Given the description of an element on the screen output the (x, y) to click on. 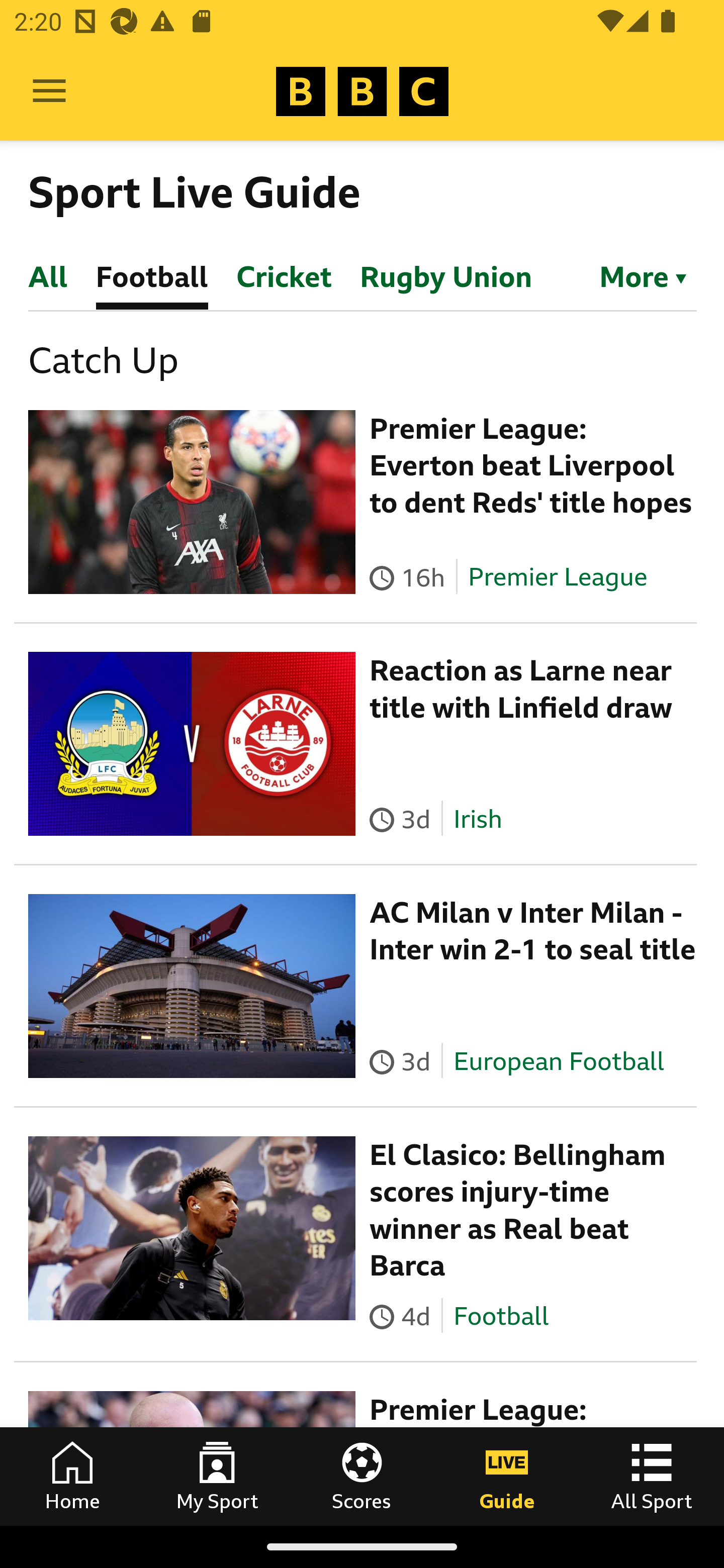
Open Menu (49, 91)
Filter by section. Currently selected: Football (634, 275)
Premier League (557, 576)
Reaction as Larne near title with Linfield draw (521, 688)
Irish (477, 818)
European Football (558, 1060)
Football (500, 1315)
Home (72, 1475)
My Sport (216, 1475)
Scores (361, 1475)
All Sport (651, 1475)
